Given the description of an element on the screen output the (x, y) to click on. 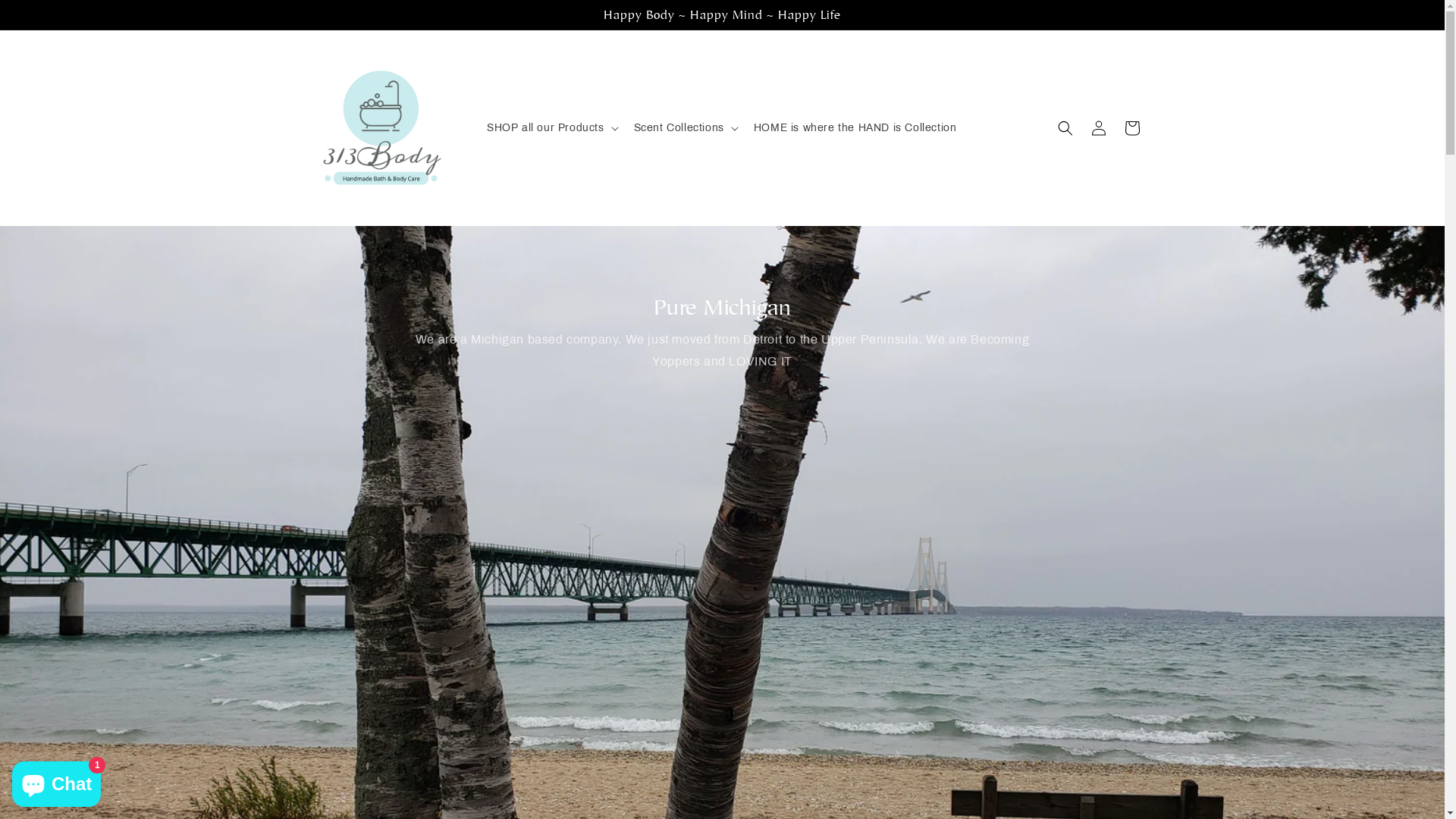
Log in Element type: text (1097, 127)
Cart Element type: text (1131, 127)
HOME is where the HAND is Collection Element type: text (855, 128)
Shopify online store chat Element type: hover (56, 780)
